Given the description of an element on the screen output the (x, y) to click on. 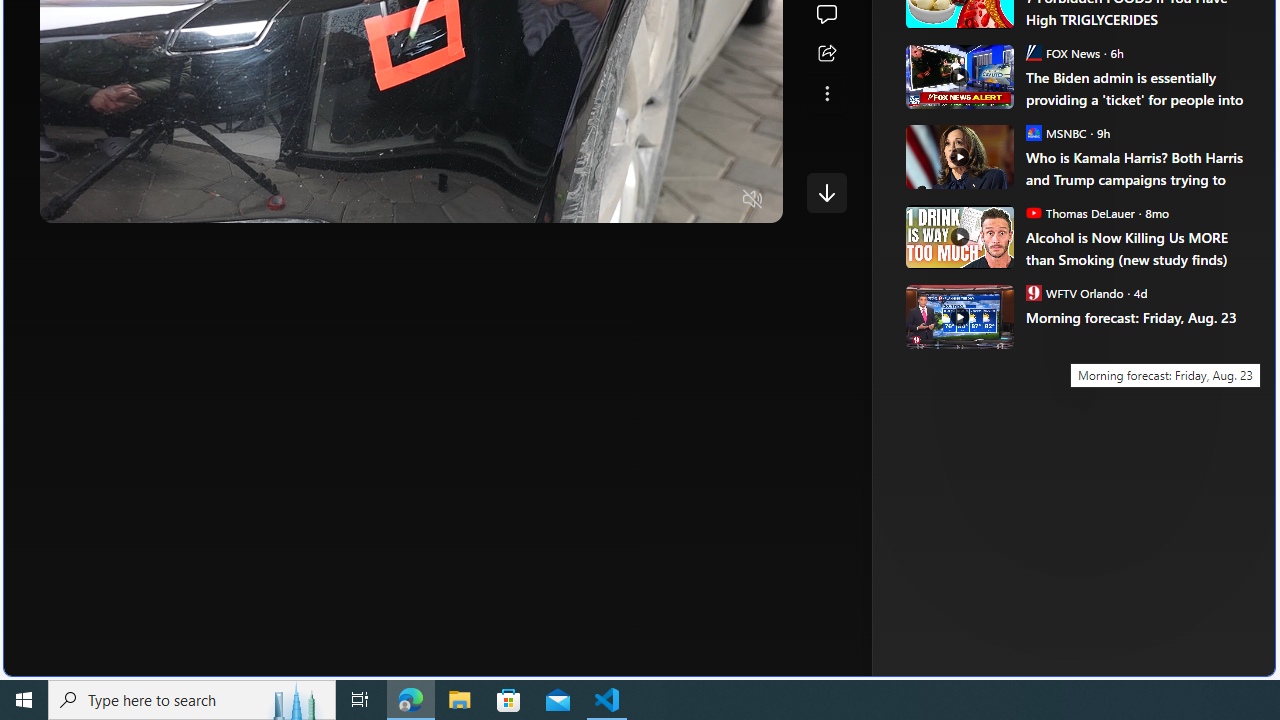
Thomas DeLauer (1033, 212)
WFTV Orlando WFTV Orlando (1074, 291)
MSNBC MSNBC (1055, 132)
Summer Sale! Up to -55% (1084, 186)
Class: control (826, 192)
Pause (69, 200)
FOX News FOX News (1062, 52)
Quality Settings (634, 200)
